Given the description of an element on the screen output the (x, y) to click on. 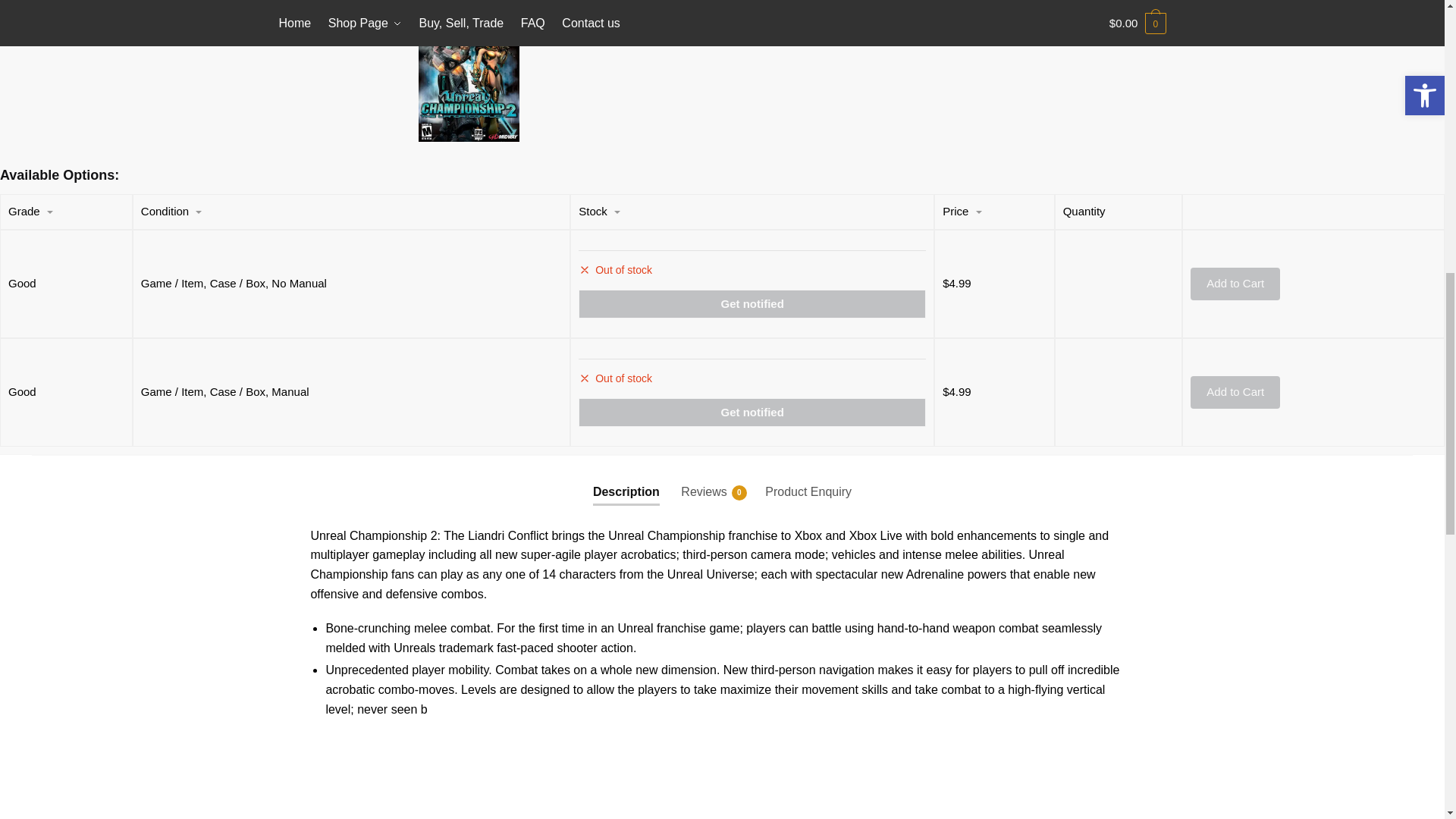
Get notified (752, 412)
Get notified (752, 303)
